Given the description of an element on the screen output the (x, y) to click on. 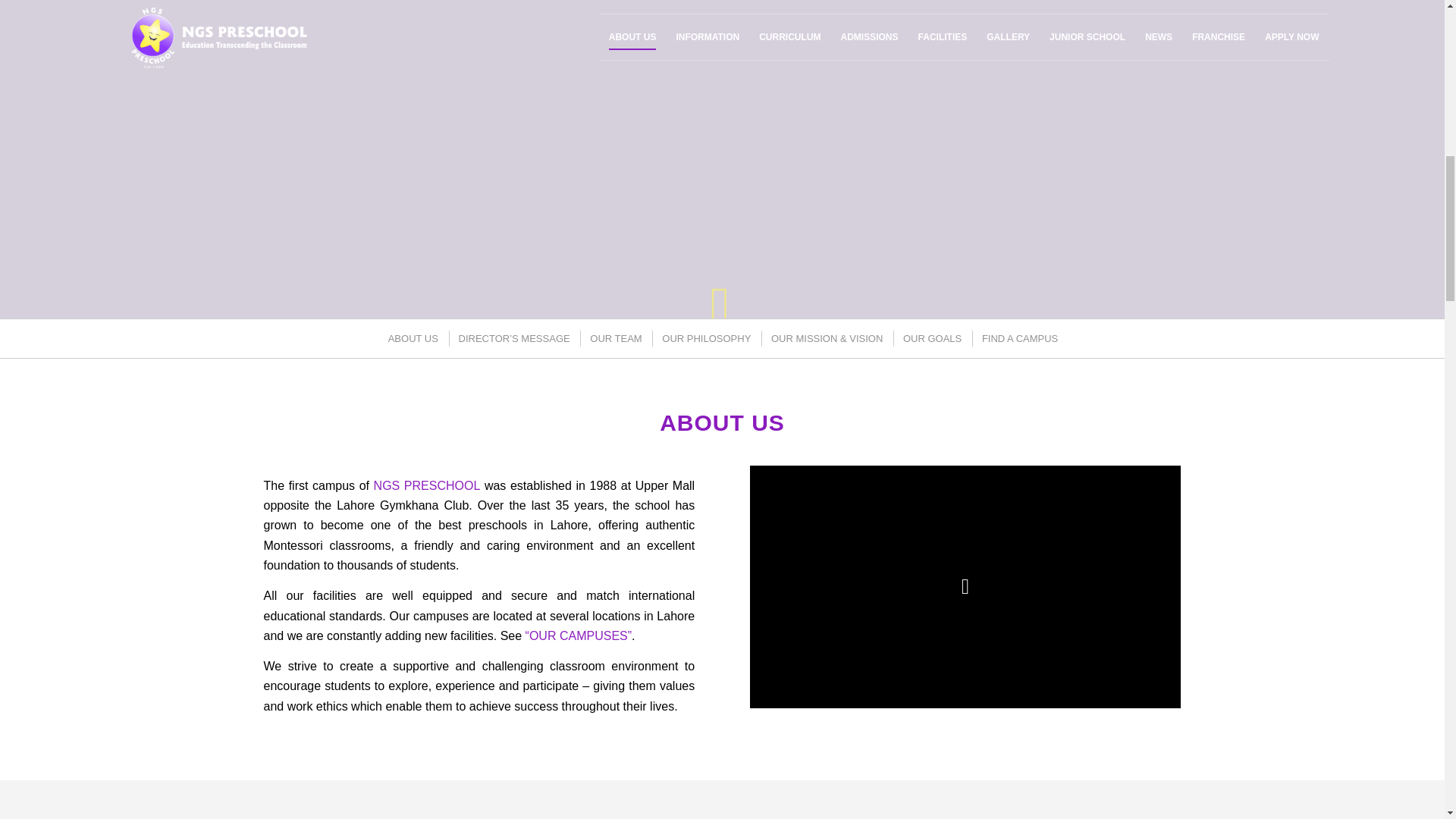
OUR PHILOSOPHY (705, 338)
OUR TEAM (614, 338)
FIND A CAMPUS (1018, 338)
OUR GOALS (931, 338)
ABOUT US (411, 338)
